Given the description of an element on the screen output the (x, y) to click on. 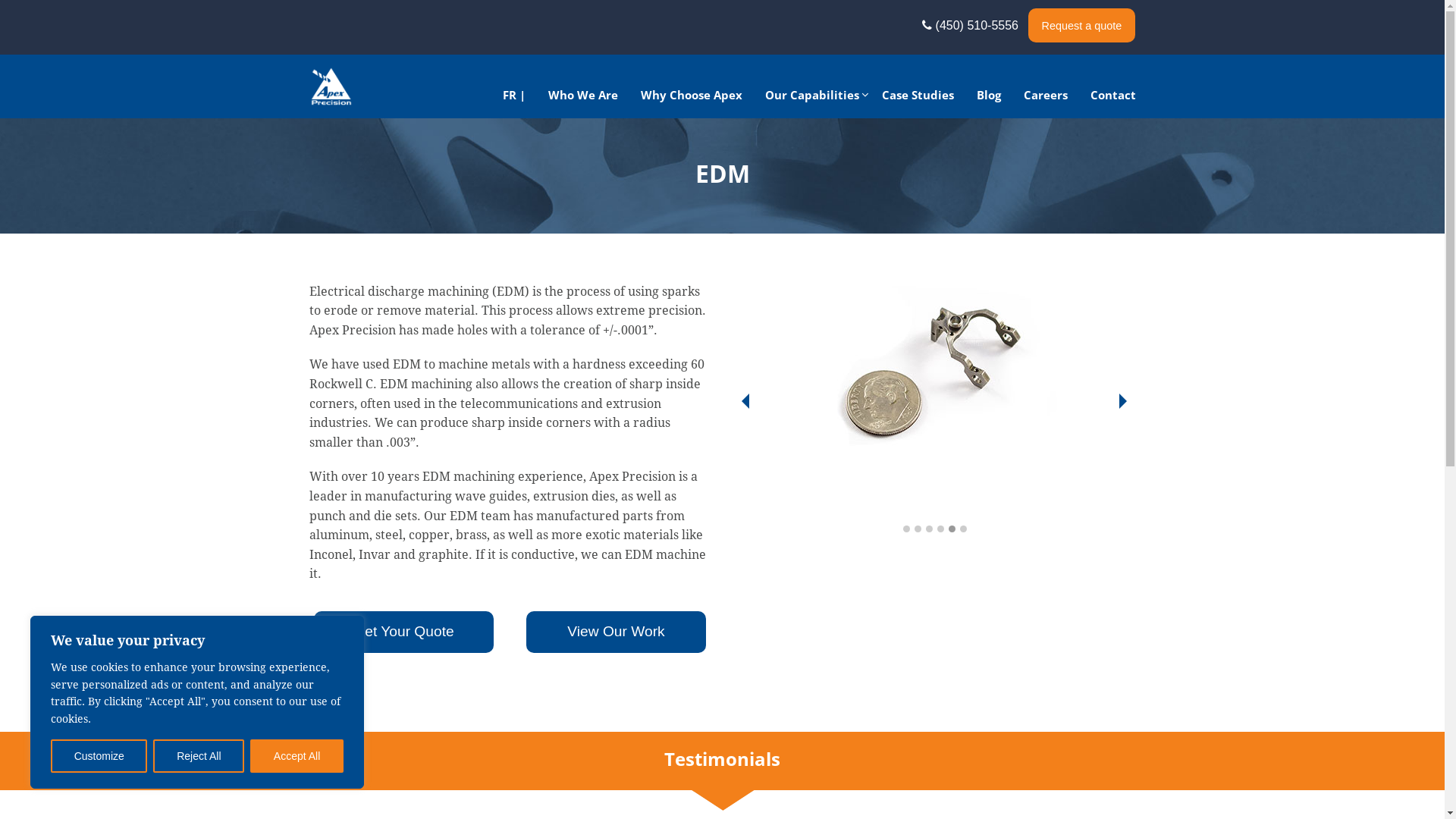
Blog Element type: text (987, 93)
Careers Element type: text (1044, 93)
Request a quote Element type: text (1081, 25)
Reject All Element type: text (198, 755)
Customize Element type: text (98, 755)
FR | Element type: text (513, 93)
(450) 510-5556   Element type: text (973, 24)
Case Studies Element type: text (917, 93)
Our Capabilities Element type: text (811, 93)
View Our Work Element type: text (616, 631)
Who We Are Element type: text (582, 93)
Accept All Element type: text (296, 755)
Get Your Quote Element type: text (403, 631)
Contact Element type: text (1112, 93)
Why Choose Apex Element type: text (691, 93)
